Given the description of an element on the screen output the (x, y) to click on. 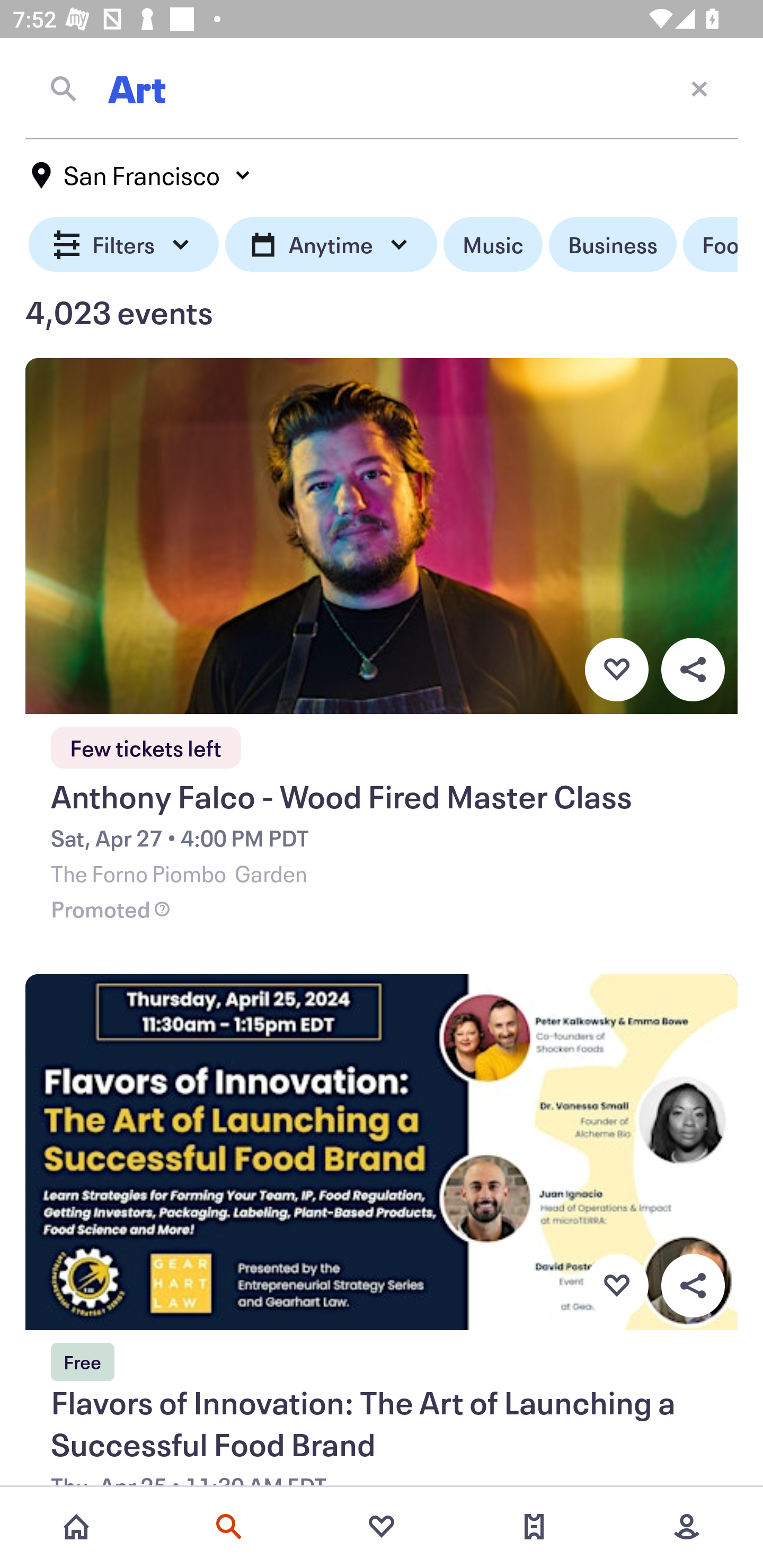
Art Close current screen (381, 88)
Close current screen (699, 88)
San Francisco (141, 175)
Filters (123, 244)
Anytime (331, 244)
Music (492, 244)
Business (612, 244)
Favorite button (616, 669)
Overflow menu button (692, 669)
Favorite button (616, 1285)
Overflow menu button (692, 1285)
Home (76, 1526)
Search events (228, 1526)
Favorites (381, 1526)
Tickets (533, 1526)
More (686, 1526)
